Given the description of an element on the screen output the (x, y) to click on. 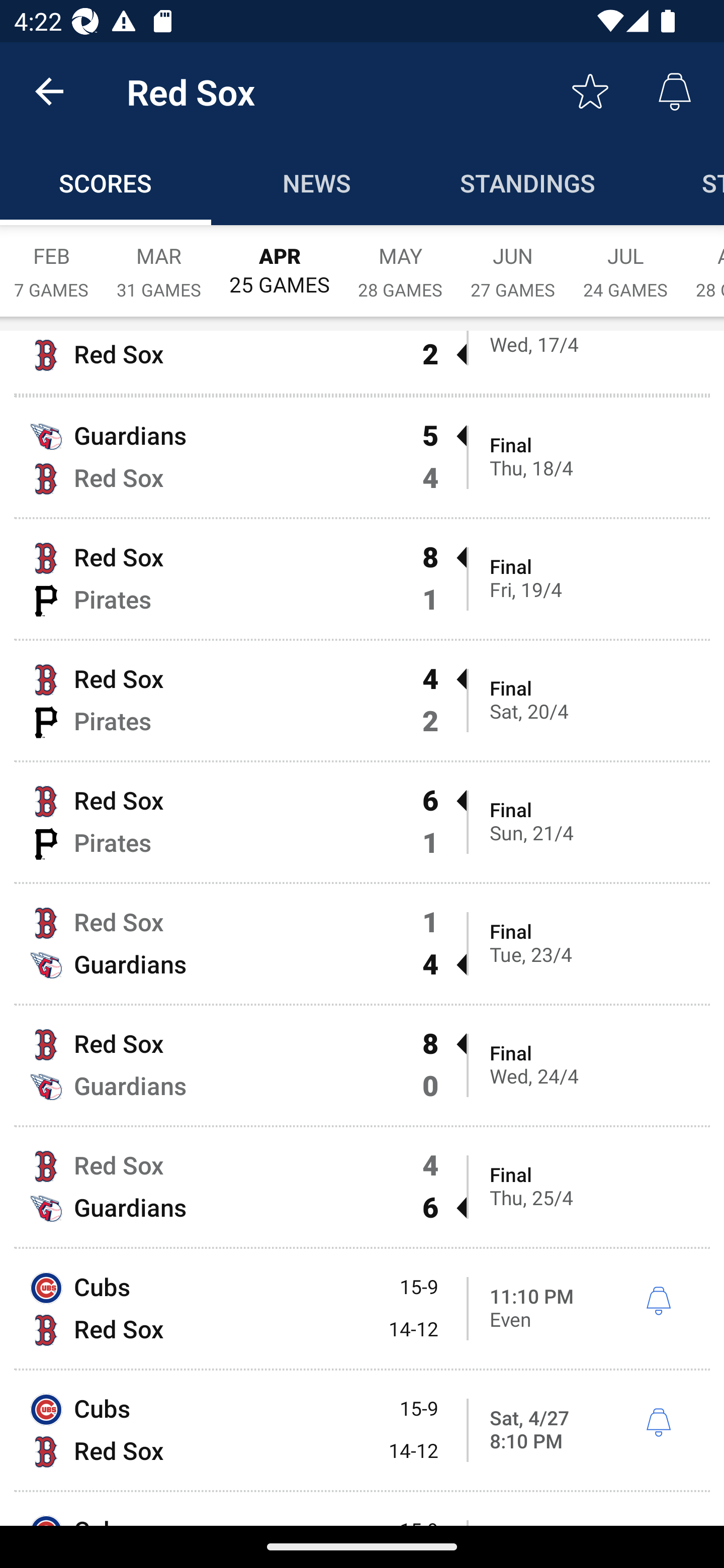
back.button (49, 90)
Favorite toggle (590, 90)
Alerts (674, 90)
News NEWS (316, 183)
Standings STANDINGS (527, 183)
FEB 7 GAMES (51, 262)
MAR 31 GAMES (158, 262)
APR 25 GAMES (279, 261)
MAY 28 GAMES (399, 262)
JUN 27 GAMES (512, 262)
JUL 24 GAMES (625, 262)
Red Sox 2  Final Wed, 17/4 (362, 361)
Guardians 5  Red Sox 4 Final Thu, 18/4 (362, 457)
Red Sox 8  Pirates 1 Final Fri, 19/4 (362, 578)
Red Sox 4  Pirates 2 Final Sat, 20/4 (362, 700)
Red Sox 6  Pirates 1 Final Sun, 21/4 (362, 821)
Red Sox 1 Guardians 4  Final Tue, 23/4 (362, 943)
Red Sox 8  Guardians 0 Final Wed, 24/4 (362, 1065)
Red Sox 4 Guardians 6  Final Thu, 25/4 (362, 1186)
Cubs 15-9 Red Sox 14-12 11:10 PM Even í (362, 1308)
í (658, 1301)
Cubs 15-9 Red Sox 14-12 Sat, 4/27 8:10 PM í (362, 1429)
í (658, 1422)
